Given the description of an element on the screen output the (x, y) to click on. 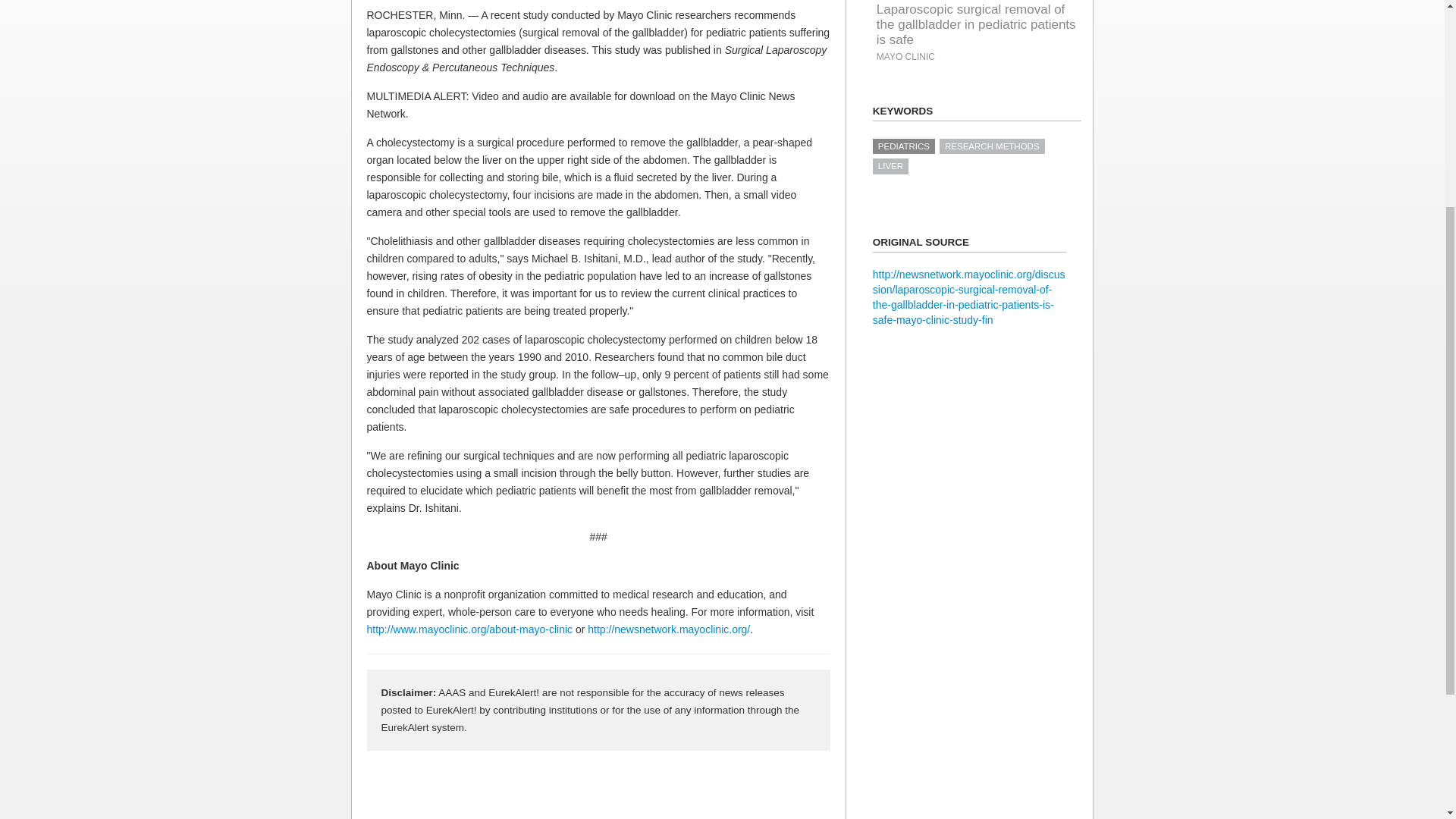
PEDIATRICS (903, 145)
LIVER (890, 165)
RESEARCH METHODS (992, 145)
